Given the description of an element on the screen output the (x, y) to click on. 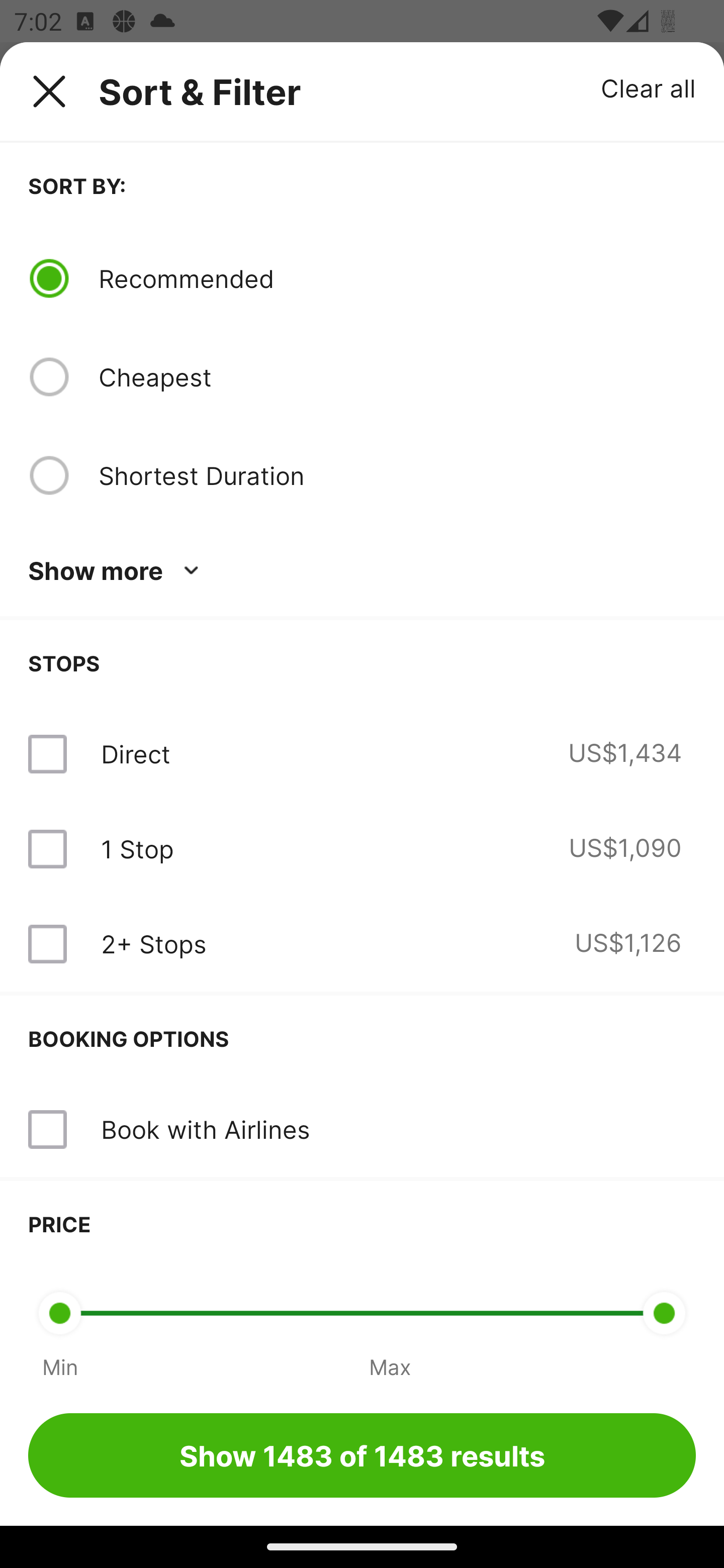
Clear all (648, 87)
Recommended  (396, 278)
Cheapest (396, 377)
Shortest Duration (396, 474)
Show more (116, 570)
Direct US$1,434 (362, 754)
Direct (135, 753)
1 Stop US$1,090 (362, 848)
1 Stop (136, 849)
2+ Stops US$1,126 (362, 943)
2+ Stops (153, 943)
Book with Airlines (362, 1129)
Book with Airlines (204, 1128)
Show 1483 of 1483 results (361, 1454)
